Given the description of an element on the screen output the (x, y) to click on. 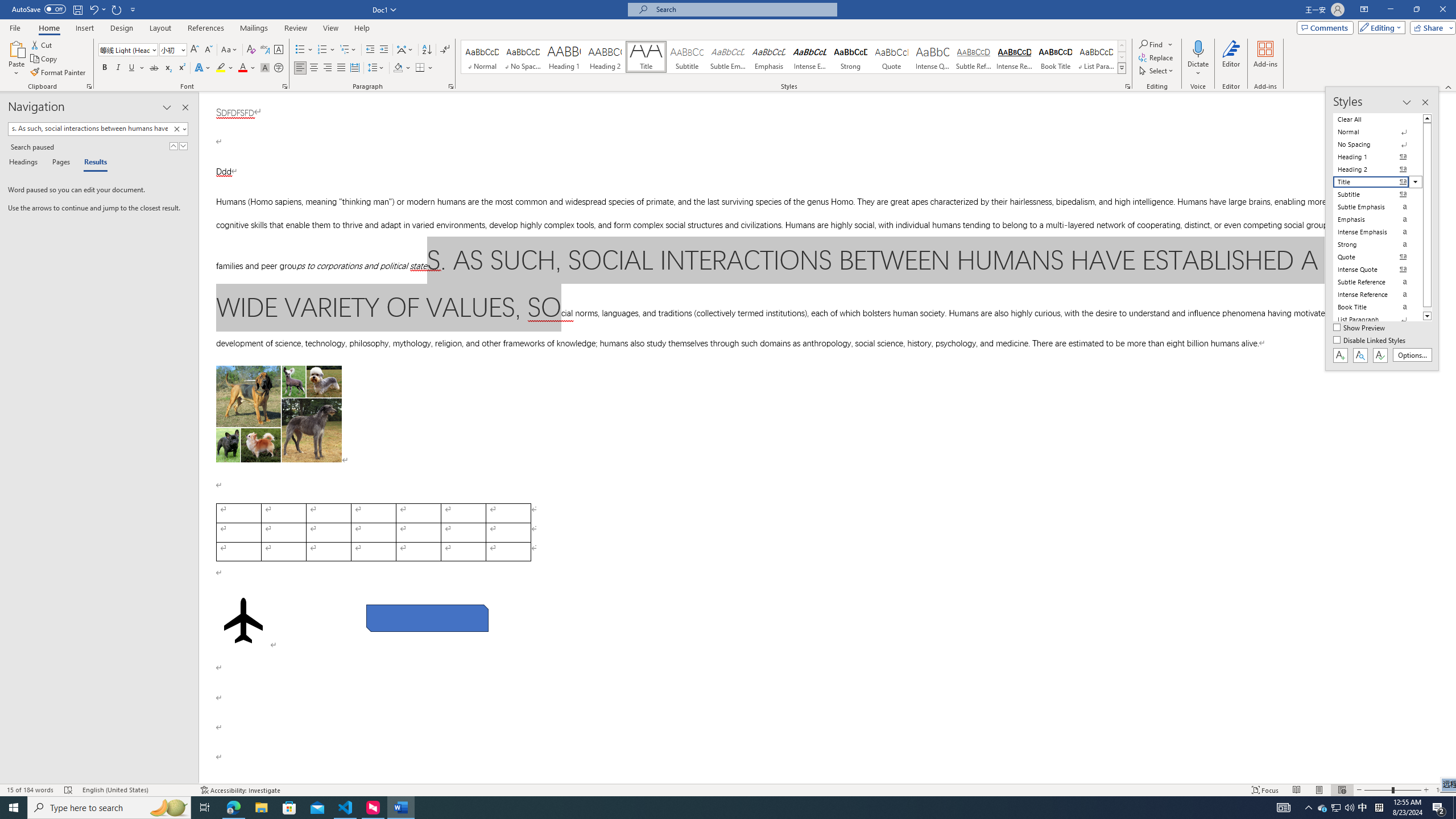
Heading 2 (605, 56)
Undo Style (96, 9)
Airplane with solid fill (242, 619)
